Given the description of an element on the screen output the (x, y) to click on. 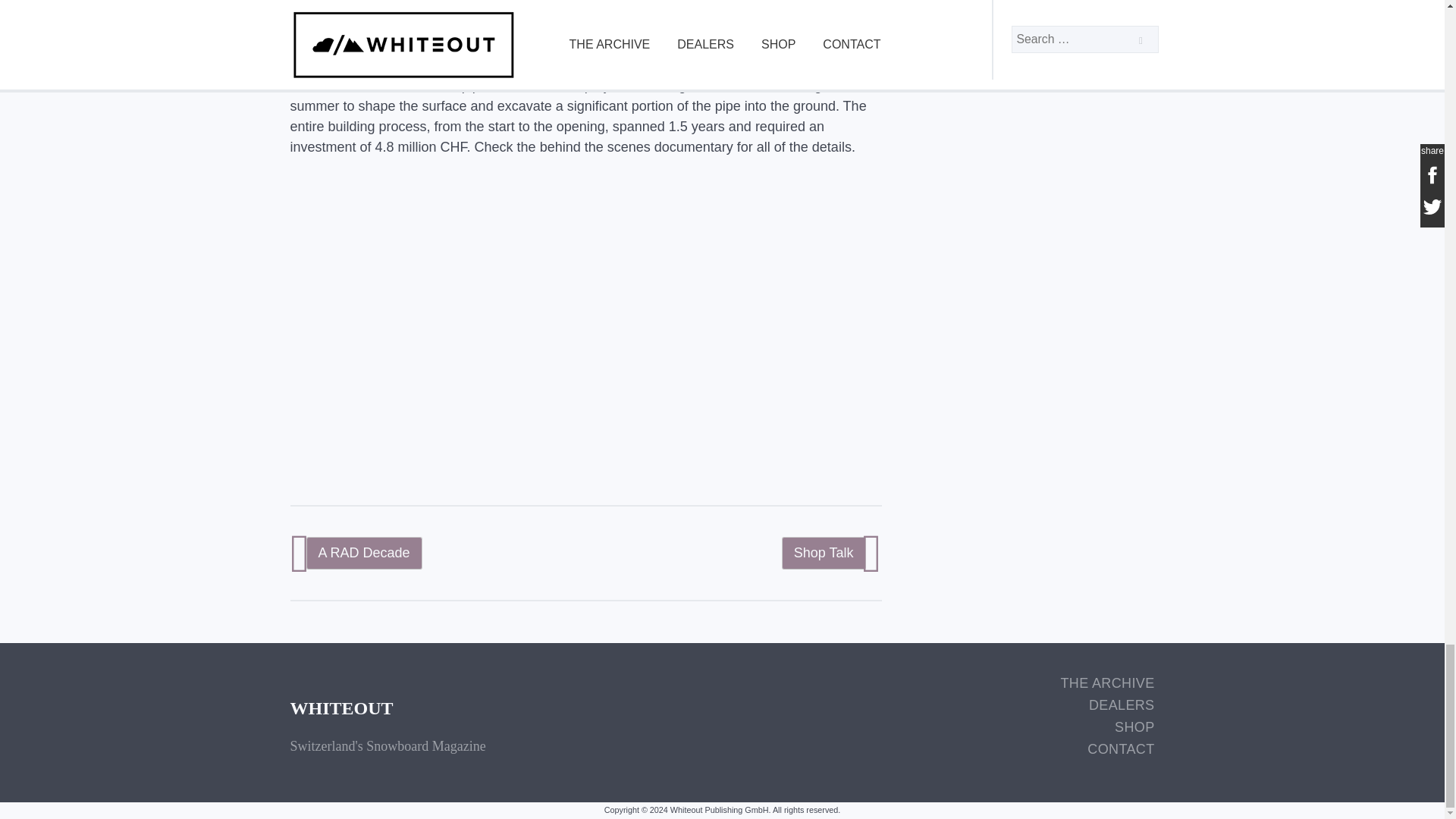
THE ARCHIVE (1107, 683)
DEALERS (1107, 705)
WHITEOUT (341, 708)
A RAD Decade (363, 553)
Shop Talk (823, 553)
